Given the description of an element on the screen output the (x, y) to click on. 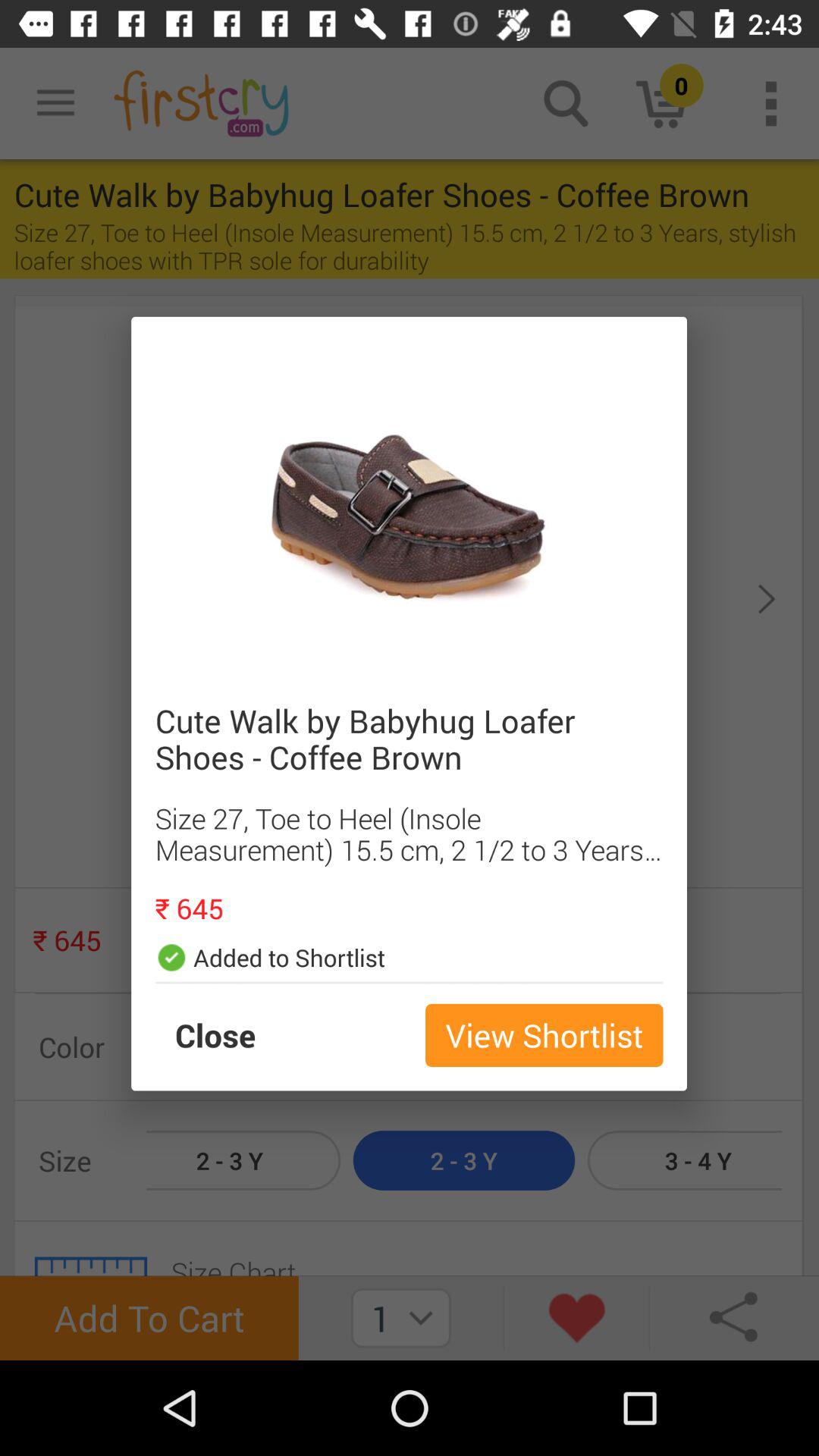
press icon next to the close icon (544, 1034)
